Given the description of an element on the screen output the (x, y) to click on. 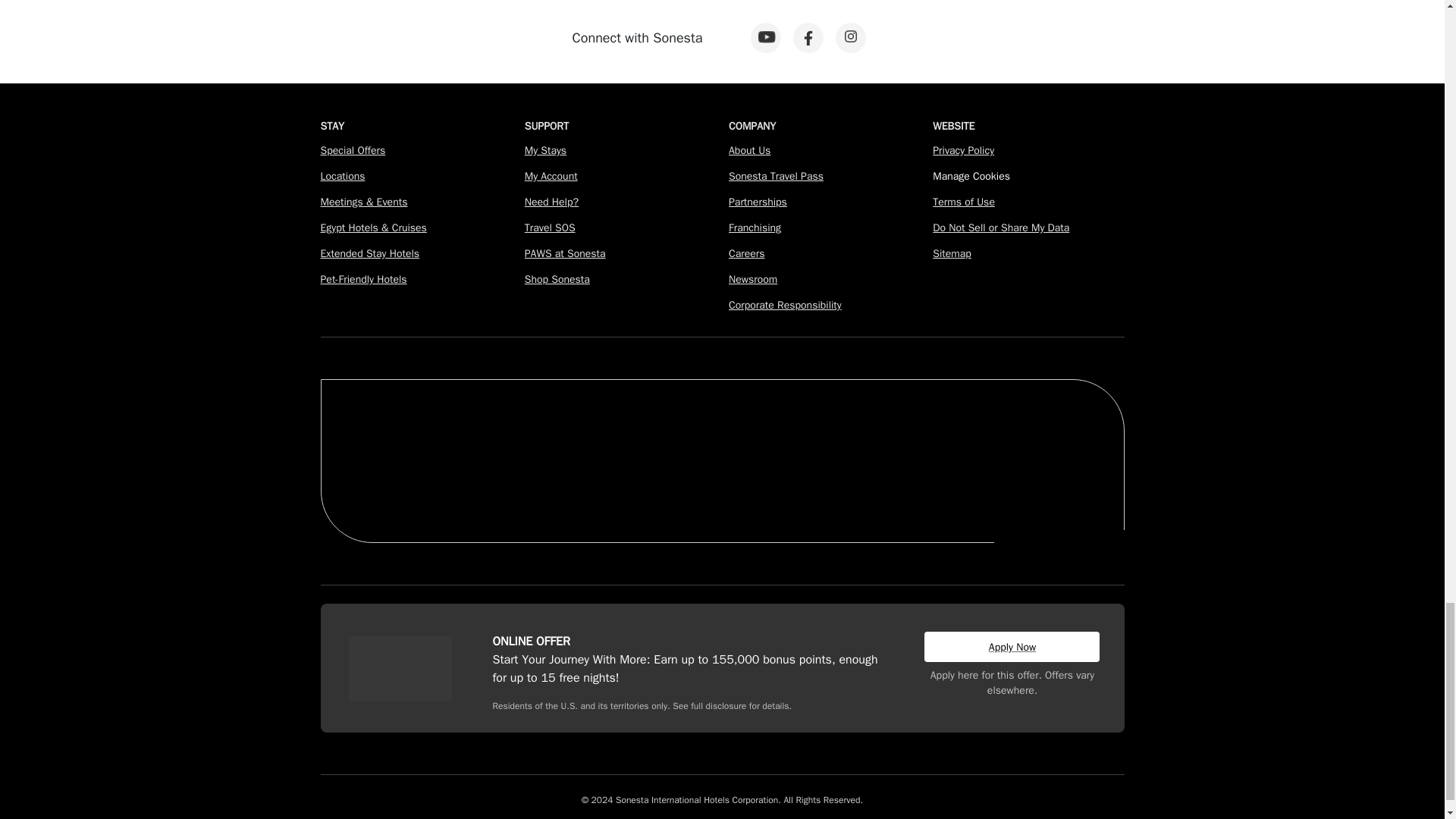
Sonesta simply suites (537, 485)
PAWS at Sonesta (564, 253)
My Stays (545, 150)
Classico Sonesta Collection (619, 434)
Careers (747, 253)
Red Lion Hotels (1052, 431)
Partnerships (758, 201)
My Account (551, 175)
Corporate Responsibility (785, 305)
Franchising (754, 227)
